Given the description of an element on the screen output the (x, y) to click on. 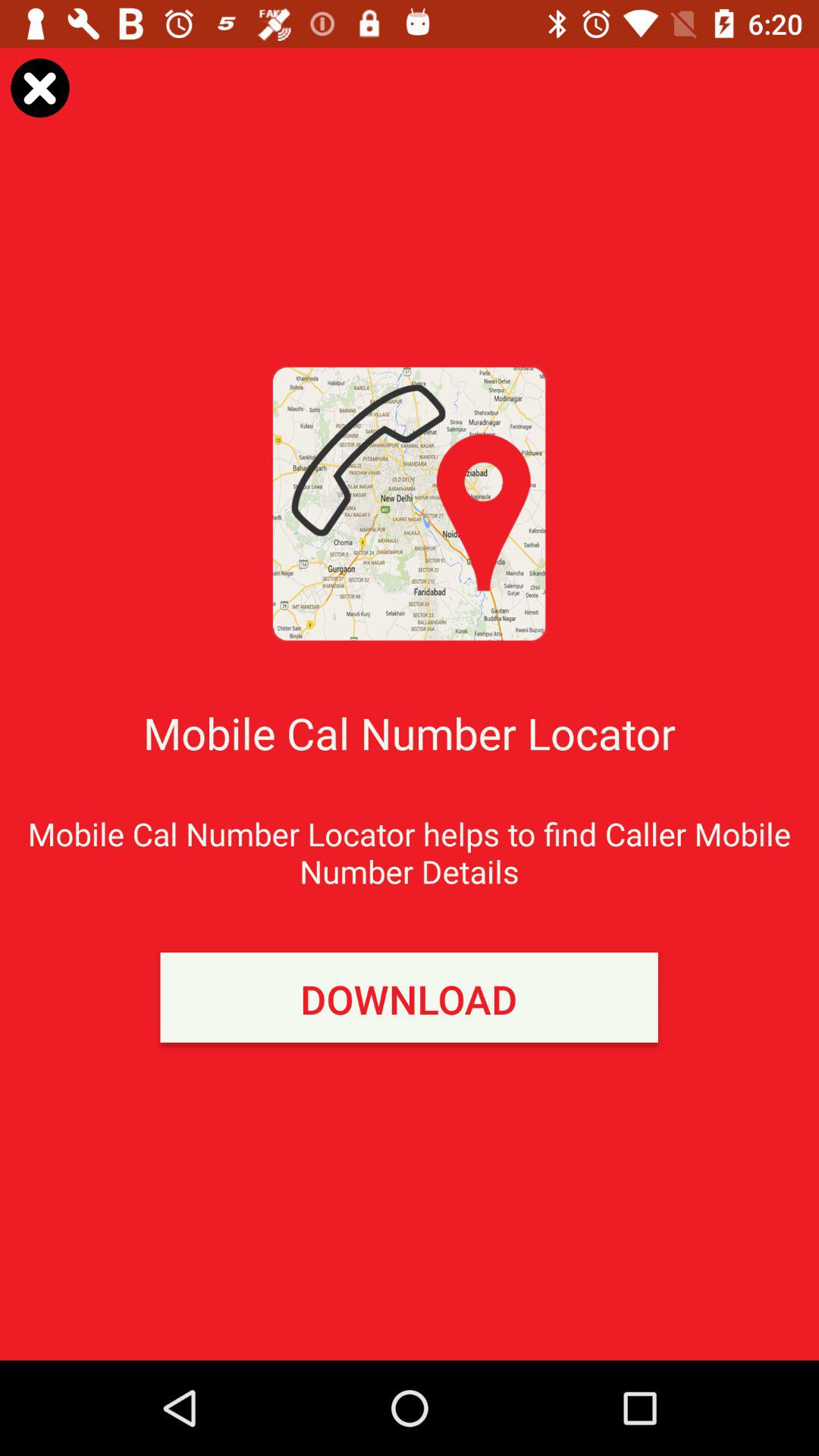
exit (39, 87)
